Given the description of an element on the screen output the (x, y) to click on. 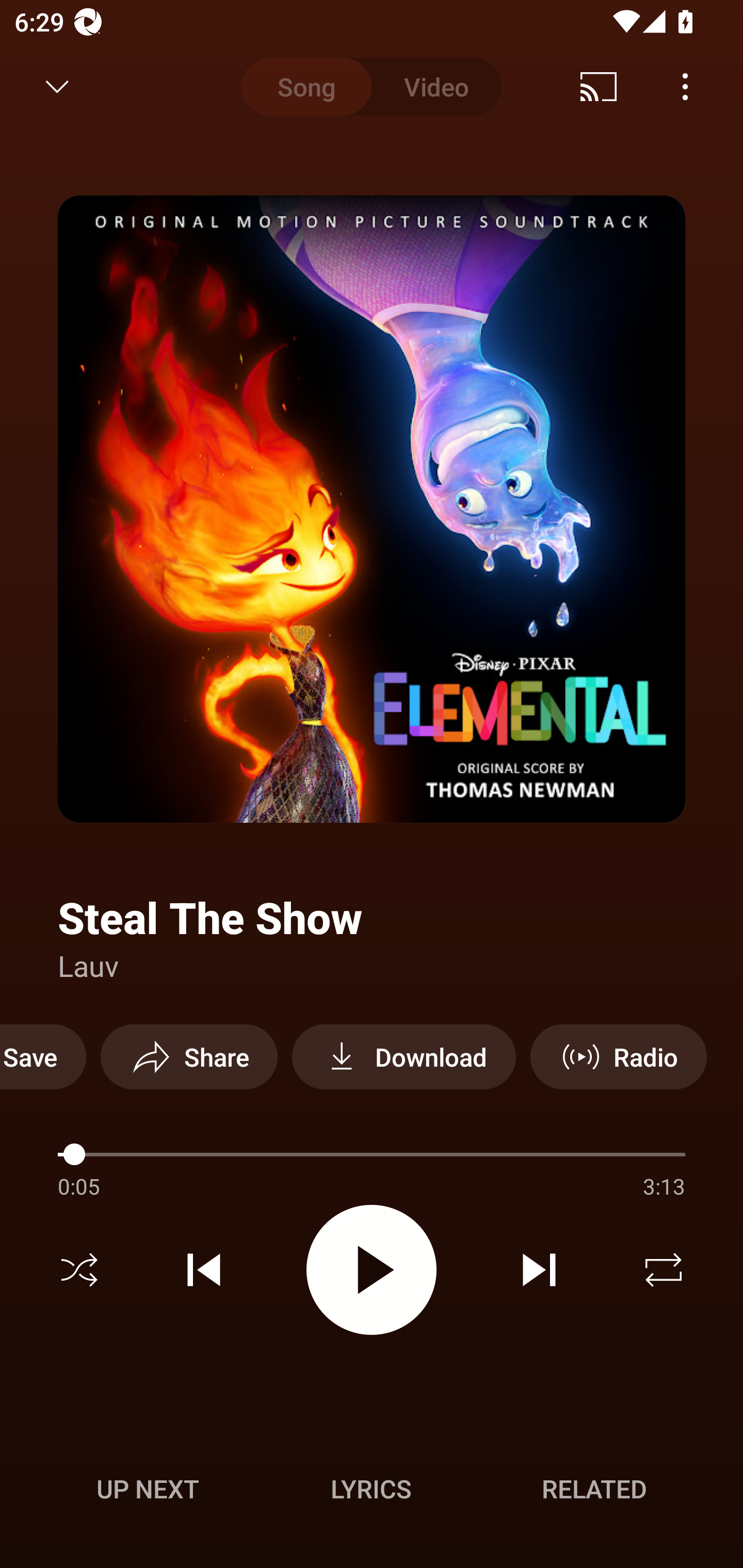
Minimize (57, 86)
Cast. Disconnected (598, 86)
Menu (684, 86)
Save Save to playlist (43, 1056)
Share (188, 1056)
Download (403, 1056)
Radio (618, 1056)
Play video (371, 1269)
Shuffle off (79, 1269)
Previous track (203, 1269)
Next track (538, 1269)
Repeat off (663, 1269)
Up next UP NEXT Lyrics LYRICS Related RELATED (371, 1491)
Lyrics LYRICS (370, 1488)
Related RELATED (594, 1488)
